Given the description of an element on the screen output the (x, y) to click on. 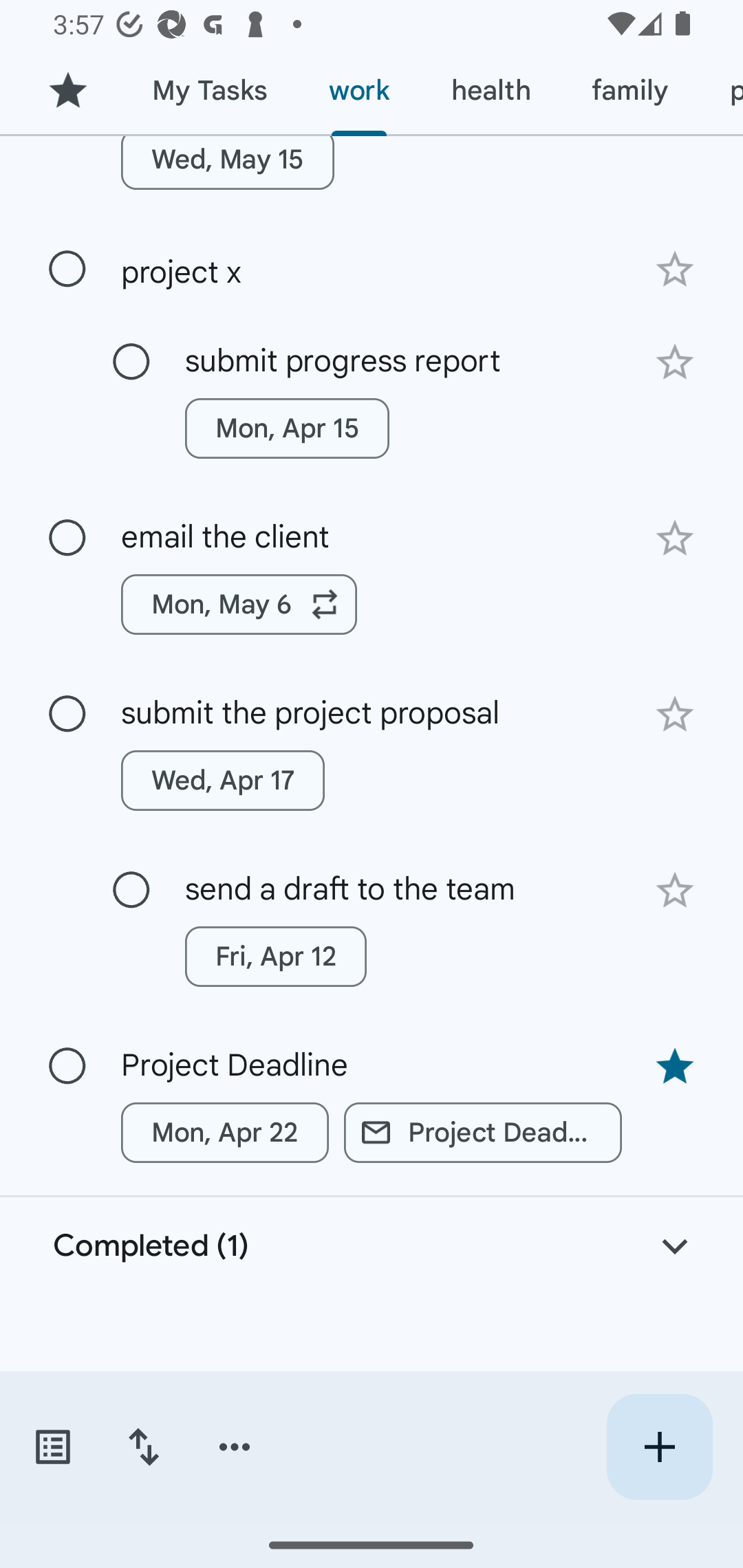
Starred (67, 90)
My Tasks (209, 90)
health (490, 90)
family (629, 90)
Wed, May 15 (227, 170)
Add star (674, 269)
Mark as complete (67, 268)
Add star (674, 361)
Mark as complete (131, 362)
Mon, Apr 15 (287, 427)
Add star (674, 537)
Mark as complete (67, 538)
Mon, May 6 (239, 604)
Add star (674, 714)
Mark as complete (67, 713)
Wed, Apr 17 (222, 780)
Add star (674, 890)
Mark as complete (131, 890)
Fri, Apr 12 (276, 956)
Remove star (674, 1065)
Mark as complete (67, 1066)
Mon, Apr 22 (225, 1131)
Project Deadline Related link (482, 1131)
Completed (1) (371, 1246)
Switch task lists (52, 1447)
Create new task (659, 1446)
Change sort order (143, 1446)
More options (234, 1446)
